Given the description of an element on the screen output the (x, y) to click on. 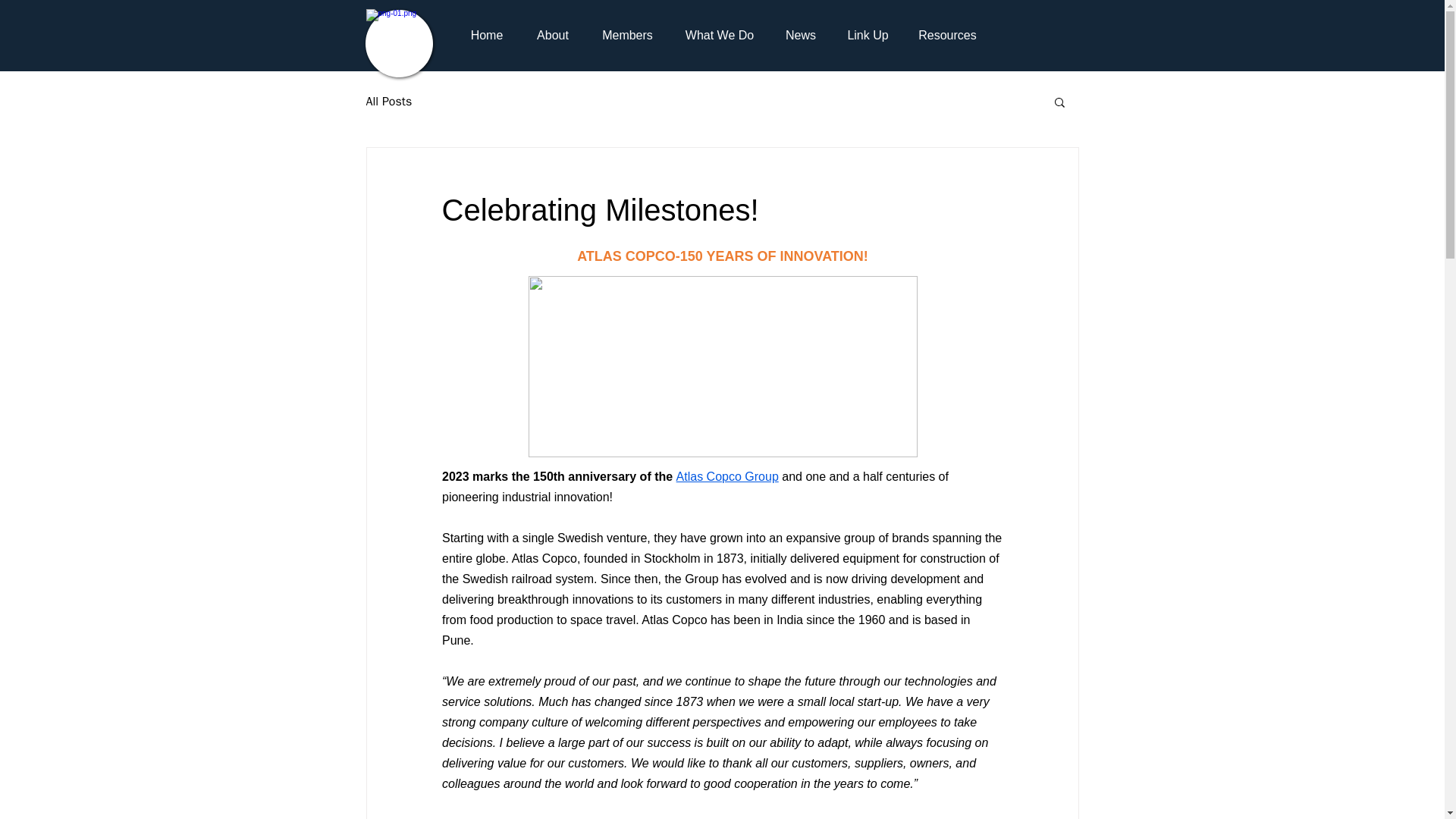
Atlas Copco Group (726, 476)
News (800, 35)
Resources (947, 35)
About (552, 35)
Home (485, 35)
Link Up (867, 35)
All Posts (388, 101)
Members (626, 35)
